Given the description of an element on the screen output the (x, y) to click on. 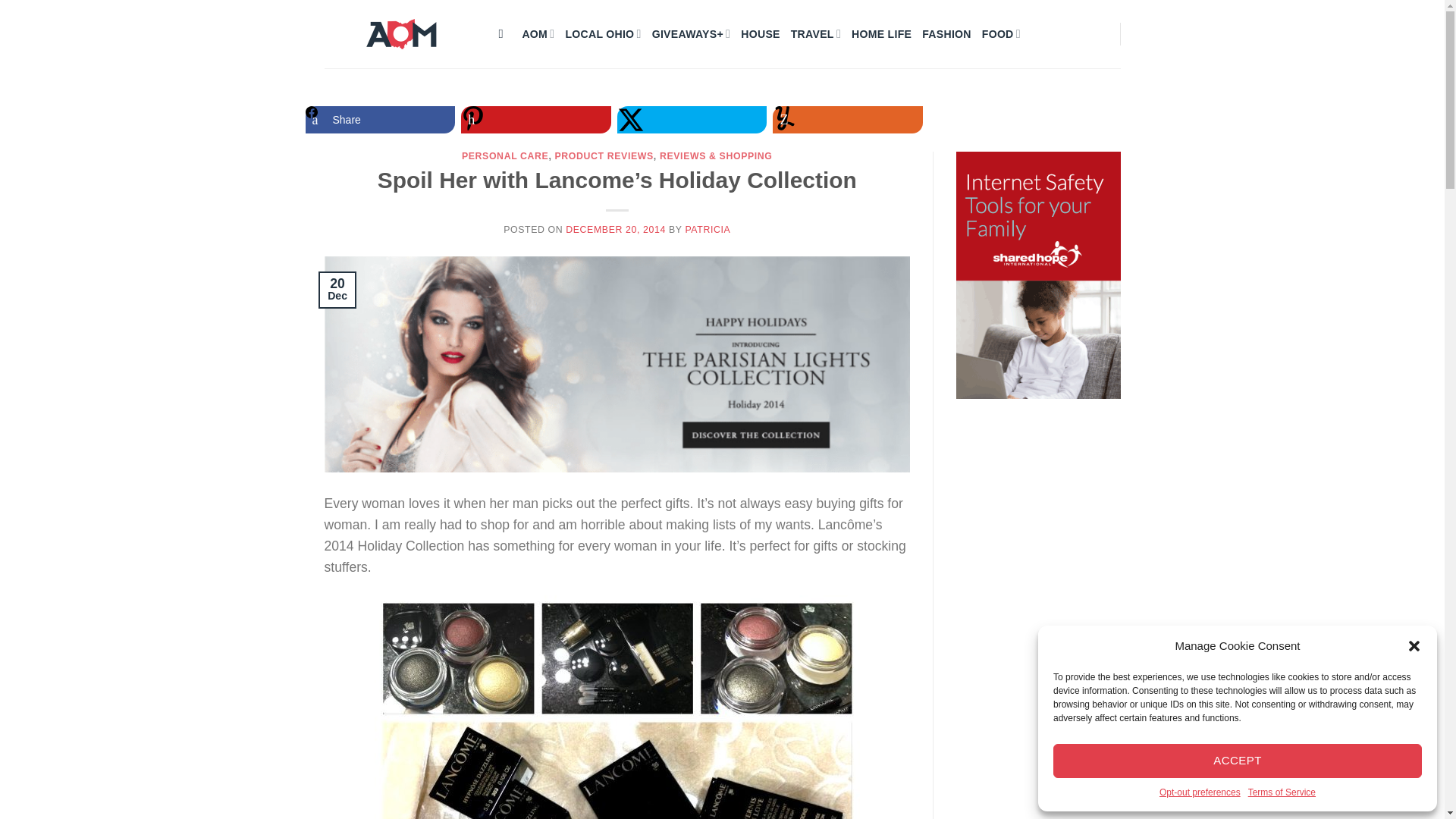
Share on Share (379, 119)
Share on - (848, 119)
Akron Ohio Moms - Influential Moms in Ohio (400, 33)
ACCEPT (1237, 760)
TRAVEL (815, 34)
AOM (537, 34)
Share on - (692, 119)
HOUSE (759, 34)
Opt-out preferences (1199, 792)
Share on - (536, 119)
